Given the description of an element on the screen output the (x, y) to click on. 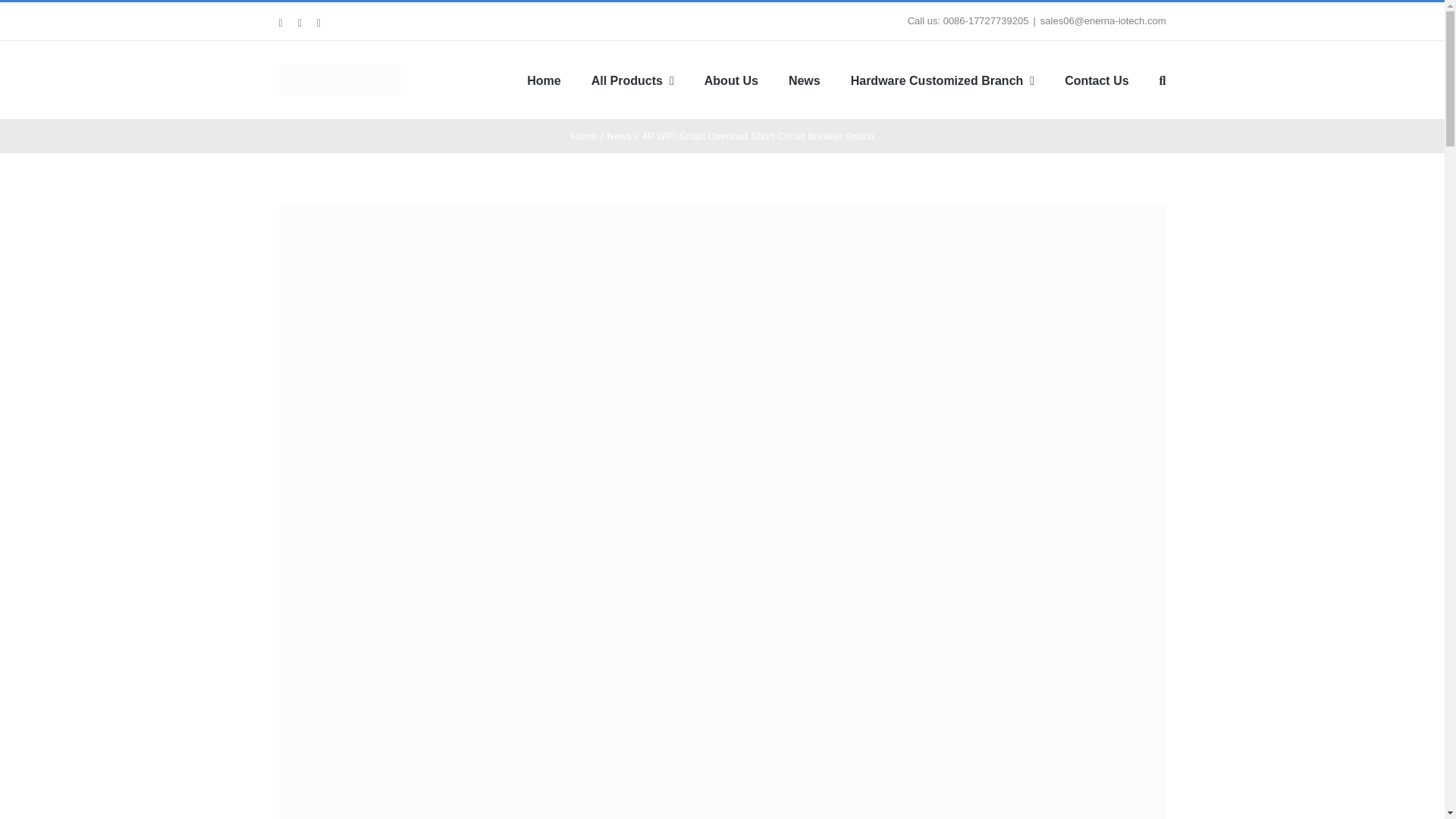
All Products (632, 79)
Hardware Customized Branch (941, 79)
